Given the description of an element on the screen output the (x, y) to click on. 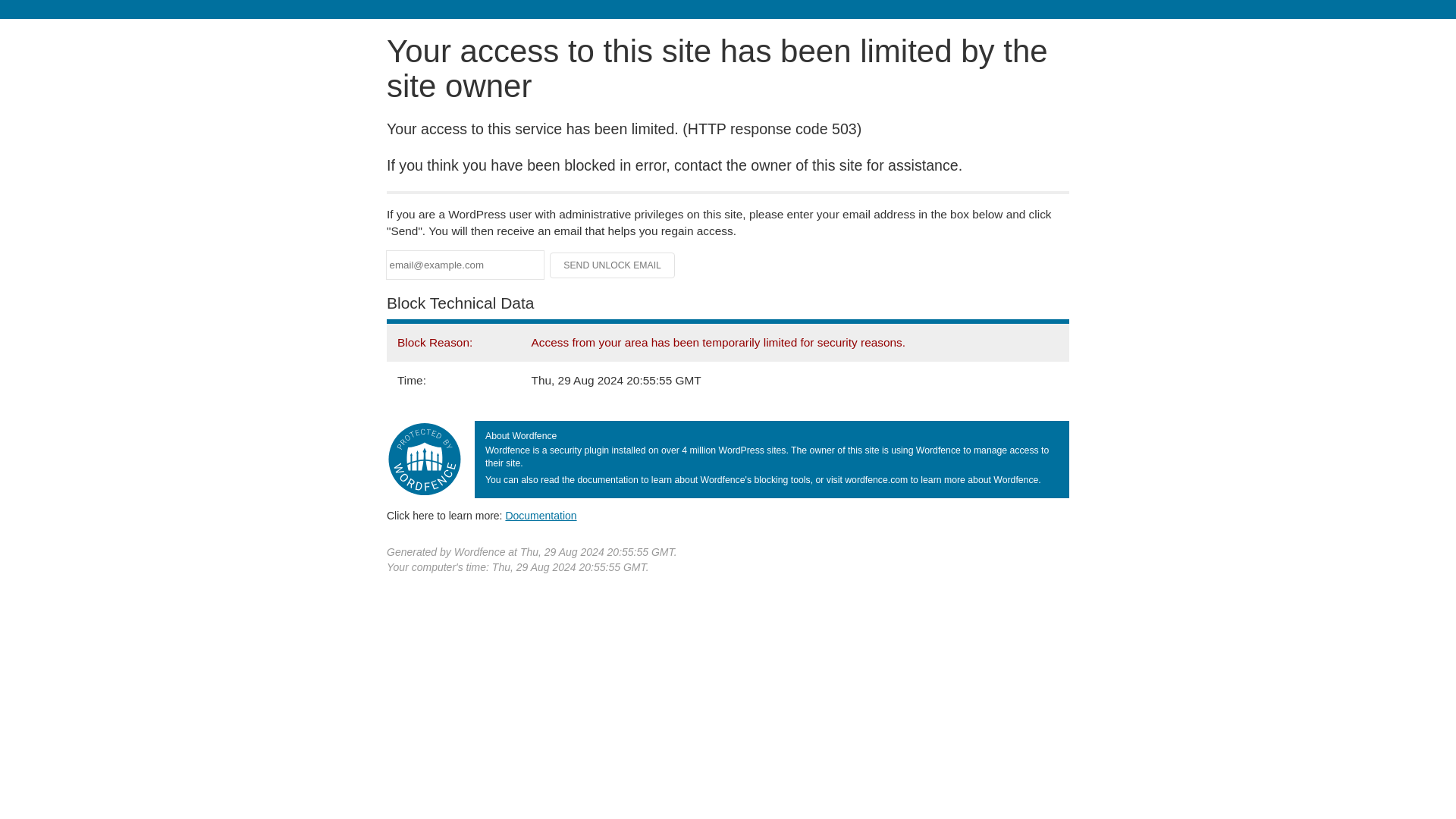
Send Unlock Email (612, 265)
Send Unlock Email (612, 265)
Documentation (540, 515)
